Given the description of an element on the screen output the (x, y) to click on. 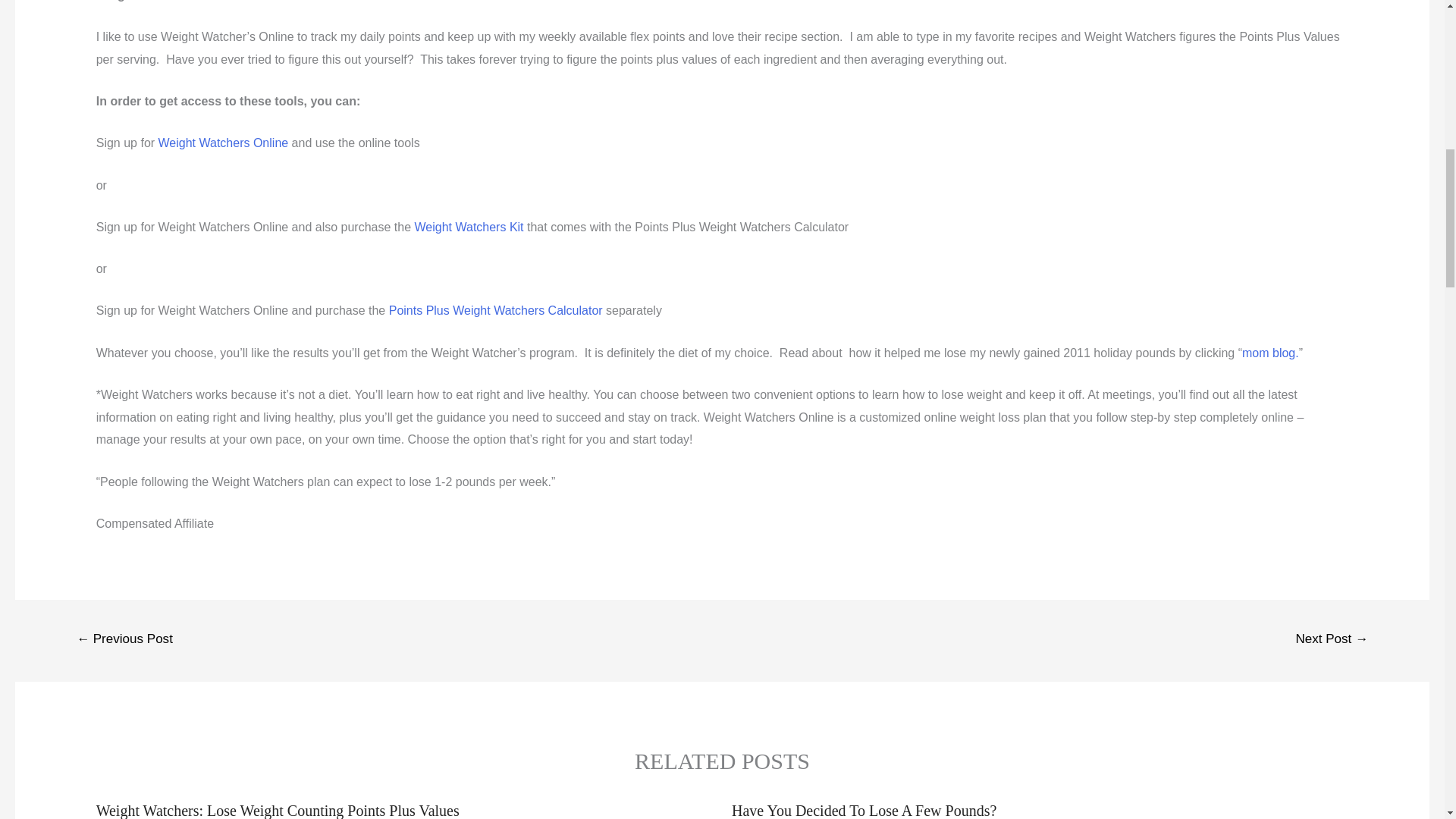
Weight Watchers Kit (469, 226)
Weight Watchers Online (223, 142)
Have You Decided To Lose A Few Pounds? (863, 810)
Weight Watchers: Lose Weight Counting Points Plus Values (278, 810)
Points Plus Weight Watchers Calculator (495, 309)
mom blog. (1269, 352)
